Given the description of an element on the screen output the (x, y) to click on. 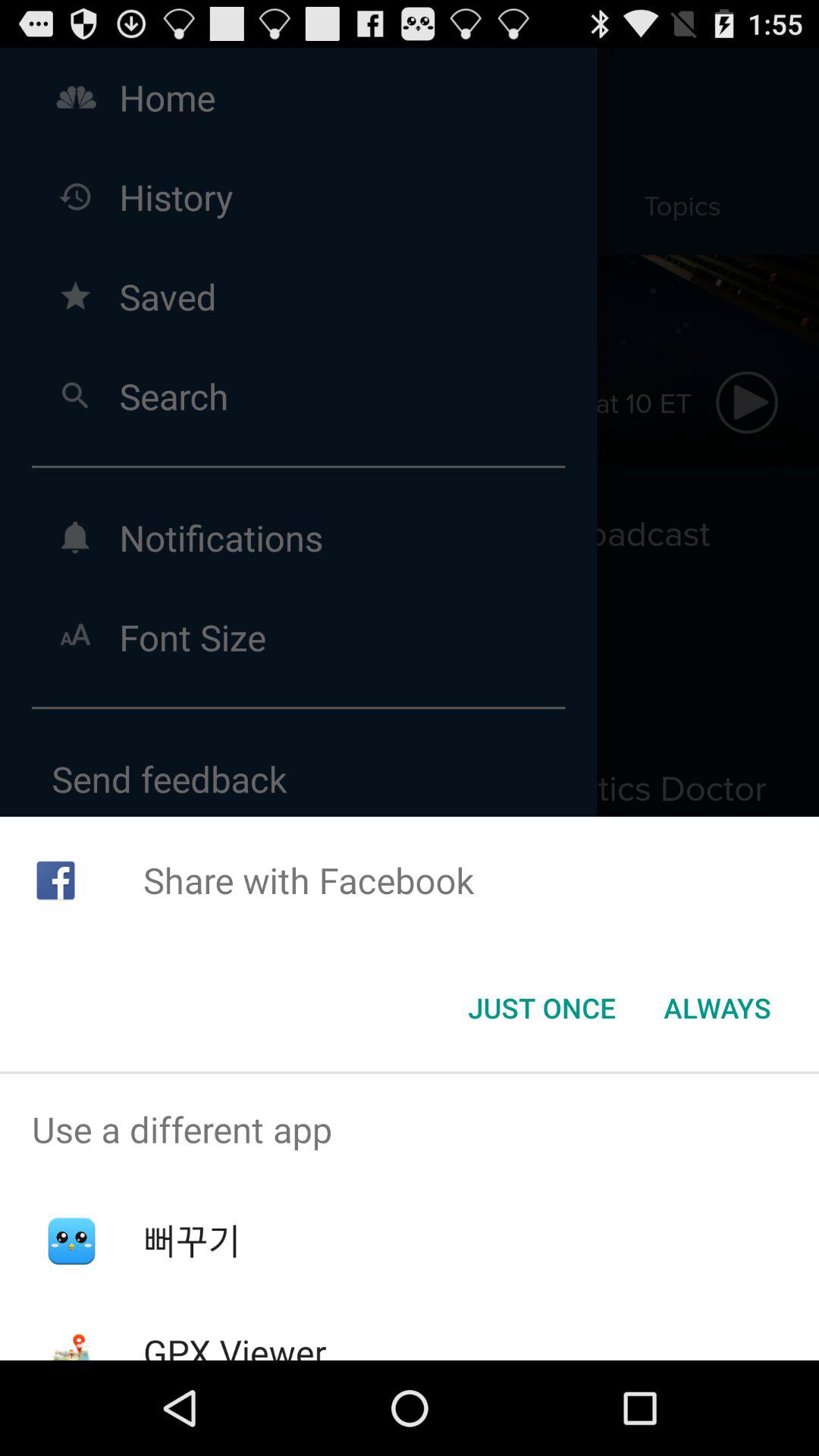
turn off icon next to just once item (717, 1007)
